Given the description of an element on the screen output the (x, y) to click on. 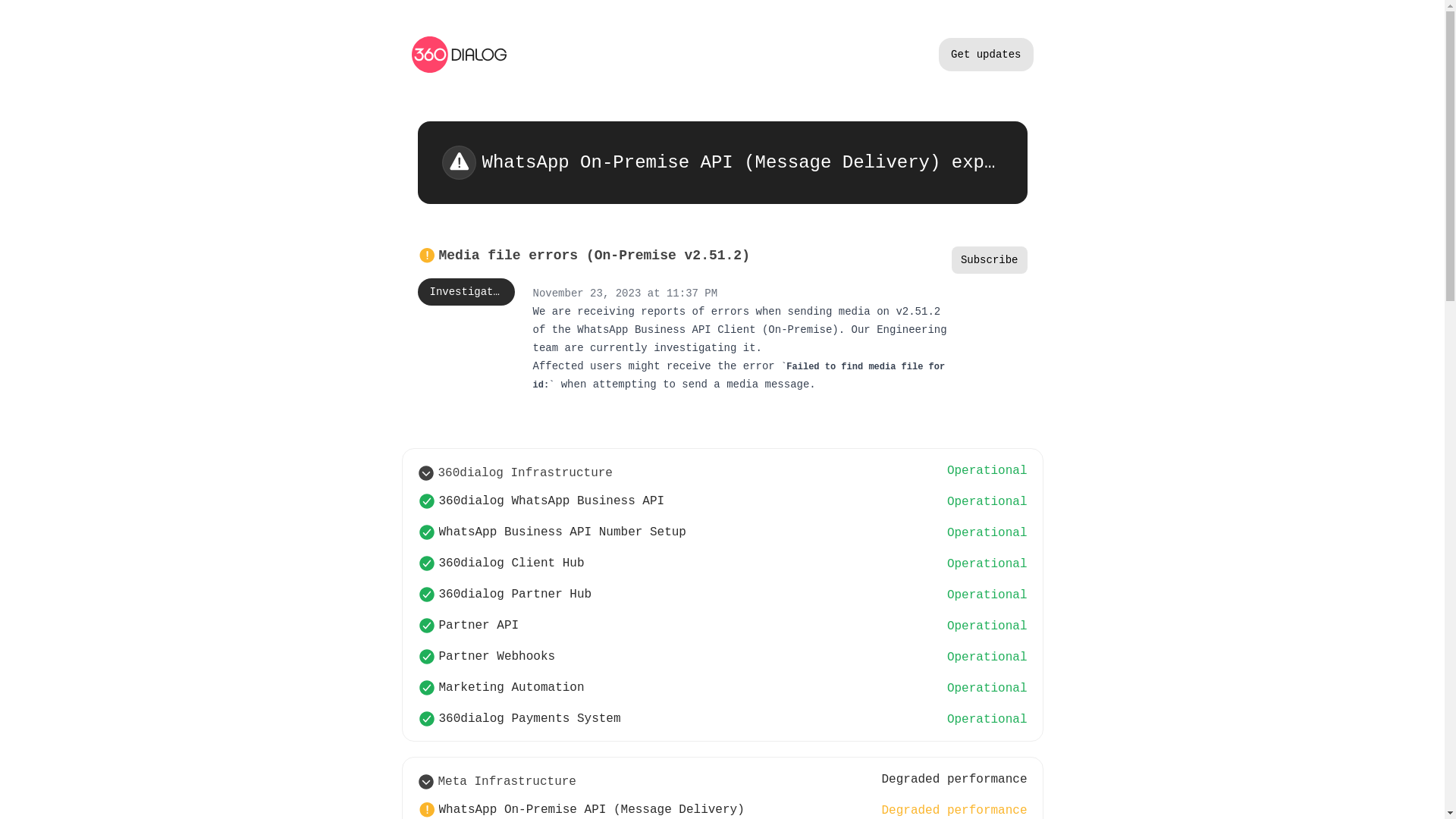
Get updates Element type: text (985, 54)
Subscribe Element type: text (989, 259)
